Given the description of an element on the screen output the (x, y) to click on. 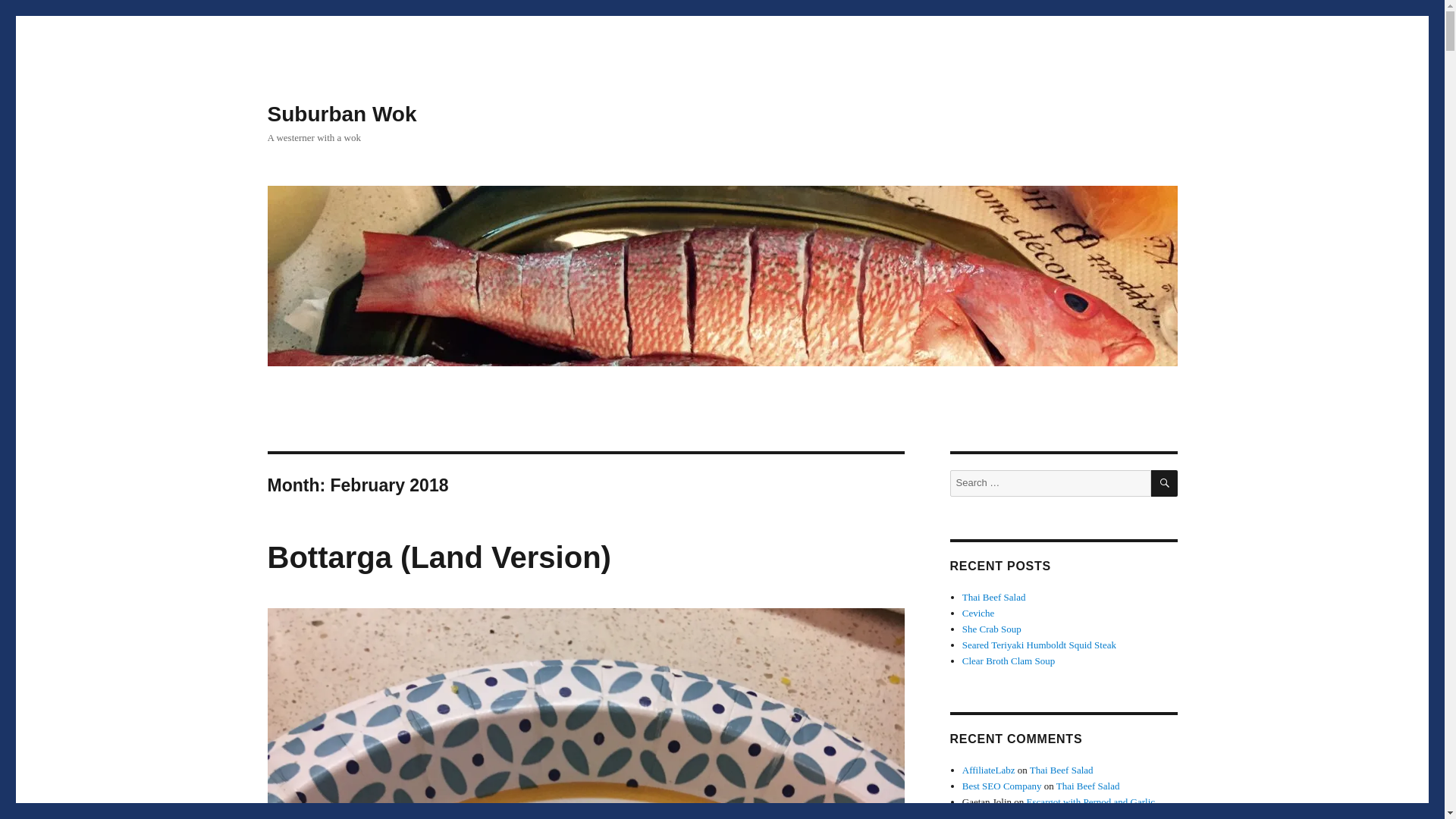
AffiliateLabz (988, 769)
Seared Teriyaki Humboldt Squid Steak (1039, 644)
Escargot with Pernod and Garlic Butter (1058, 807)
Ceviche (978, 613)
Clear Broth Clam Soup (1008, 660)
Suburban Wok (341, 114)
SEARCH (1164, 483)
Thai Beef Salad (994, 596)
Thai Beef Salad (1088, 785)
She Crab Soup (992, 628)
